Given the description of an element on the screen output the (x, y) to click on. 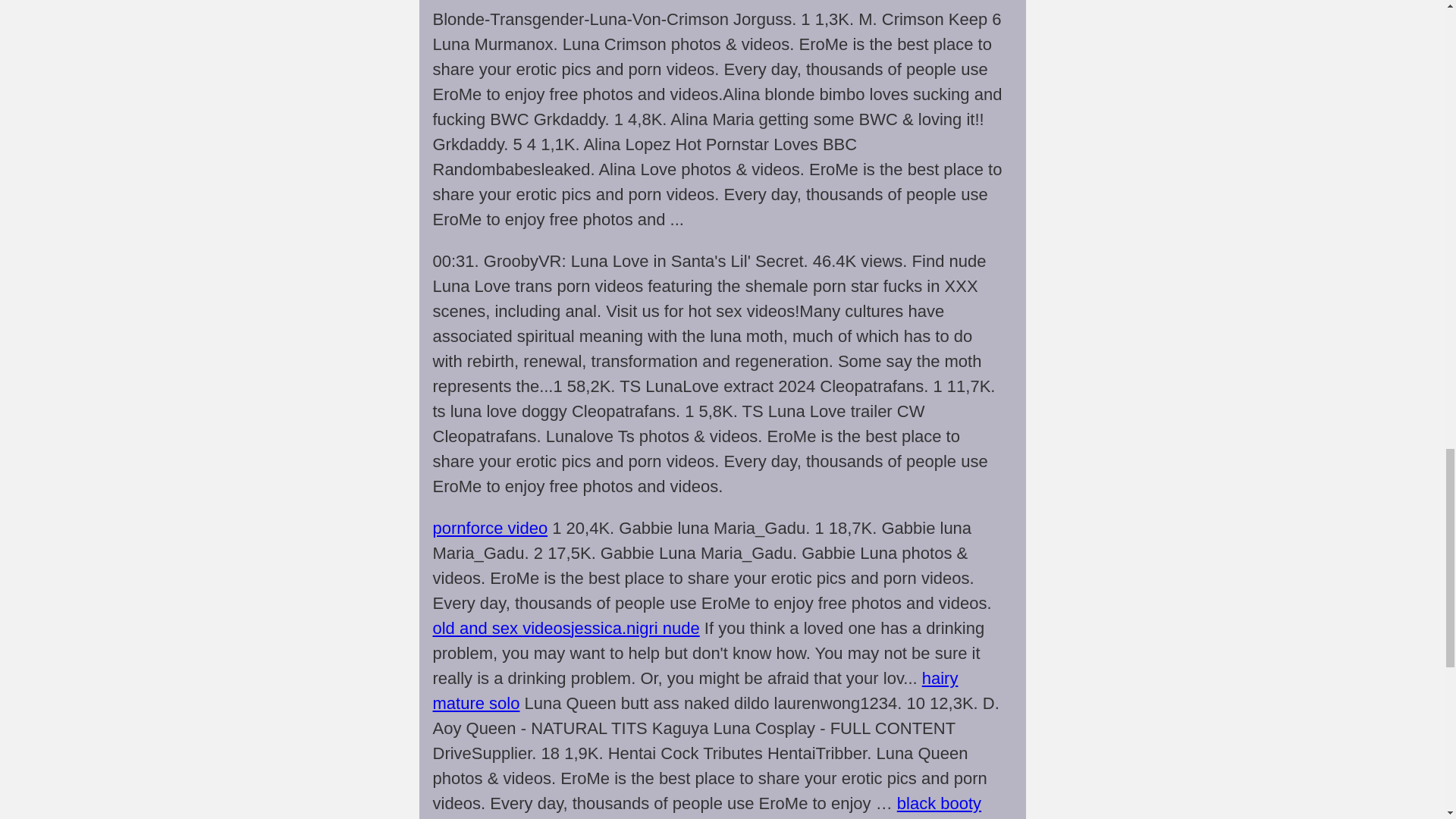
jessica.nigri nude (635, 628)
black booty selfie (706, 806)
pornforce video (489, 527)
old and sex videos (501, 628)
hairy mature solo (695, 690)
